Given the description of an element on the screen output the (x, y) to click on. 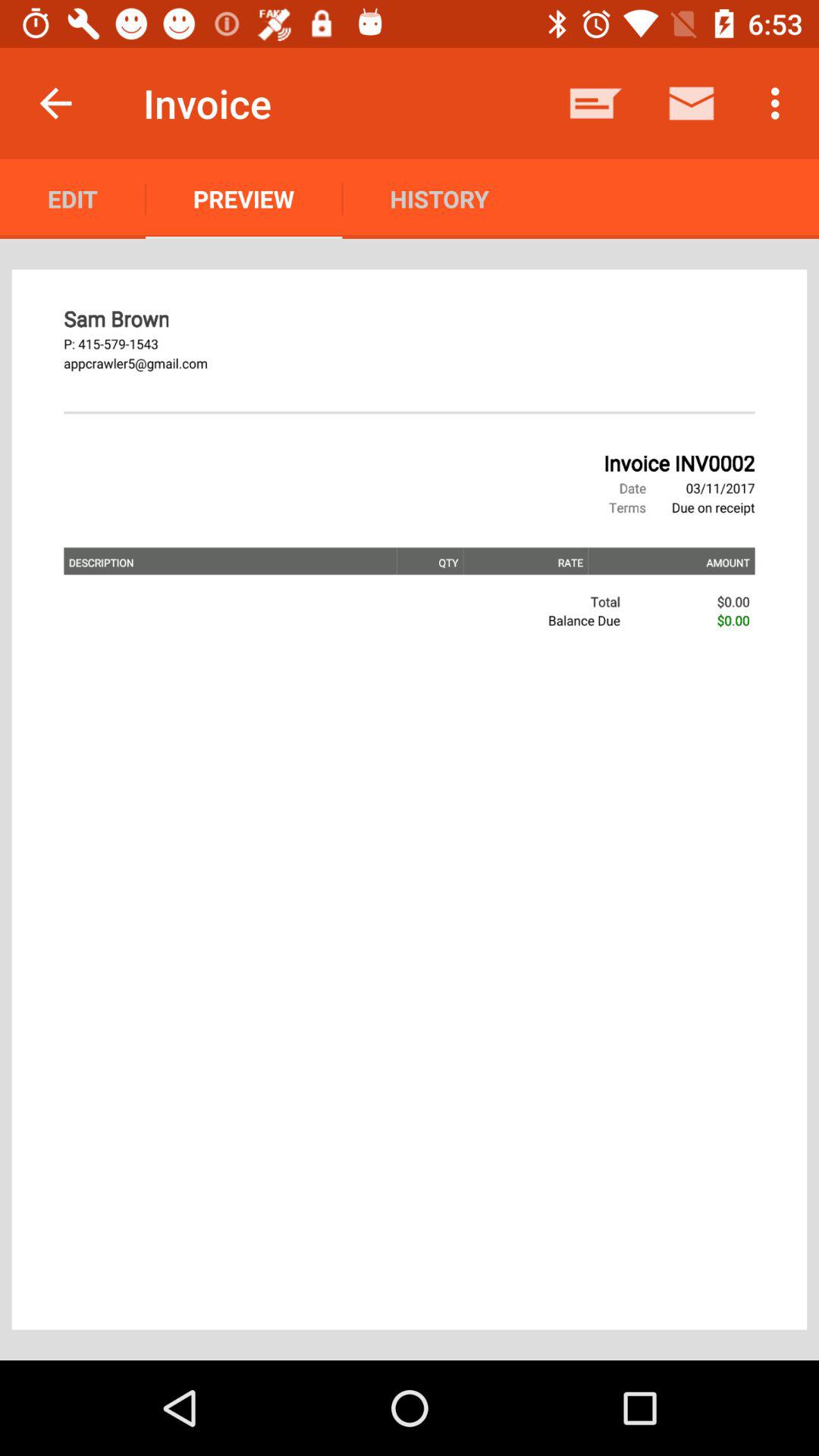
press the edit icon (72, 198)
